Given the description of an element on the screen output the (x, y) to click on. 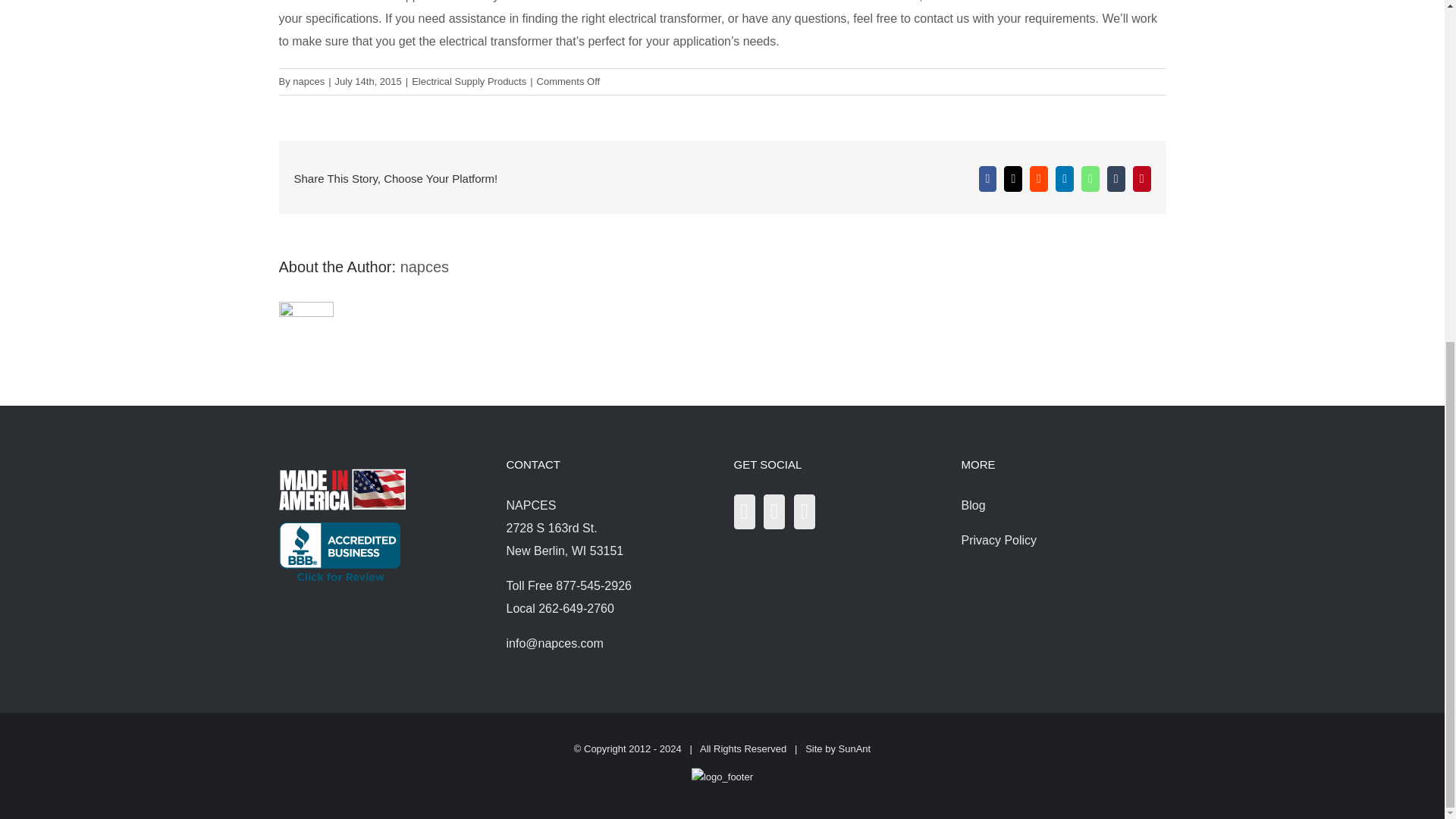
BBB Accredited Business (339, 533)
Posts by napces (424, 266)
Posts by napces (308, 81)
